Given the description of an element on the screen output the (x, y) to click on. 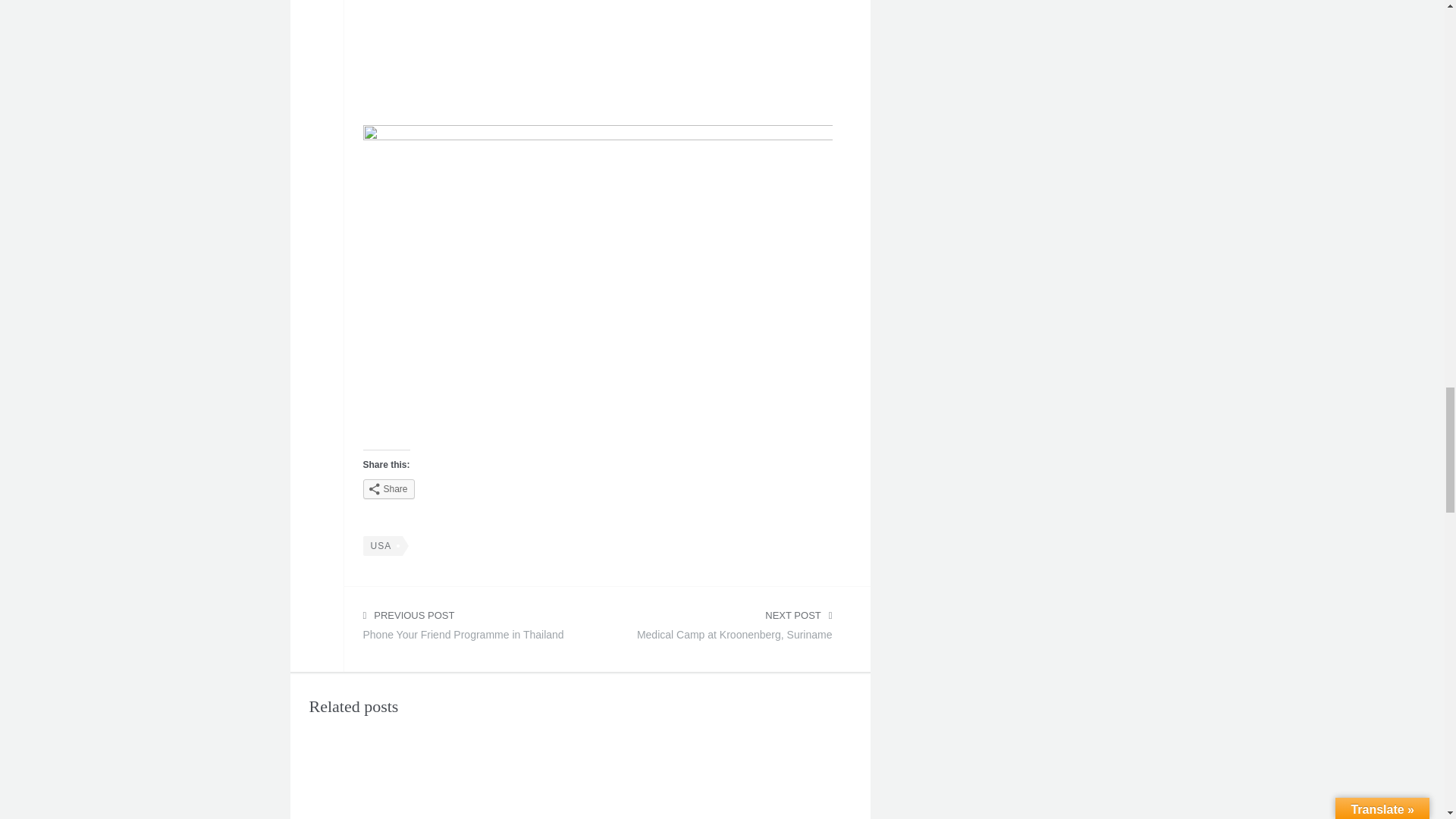
USA (382, 546)
Share (723, 629)
